Given the description of an element on the screen output the (x, y) to click on. 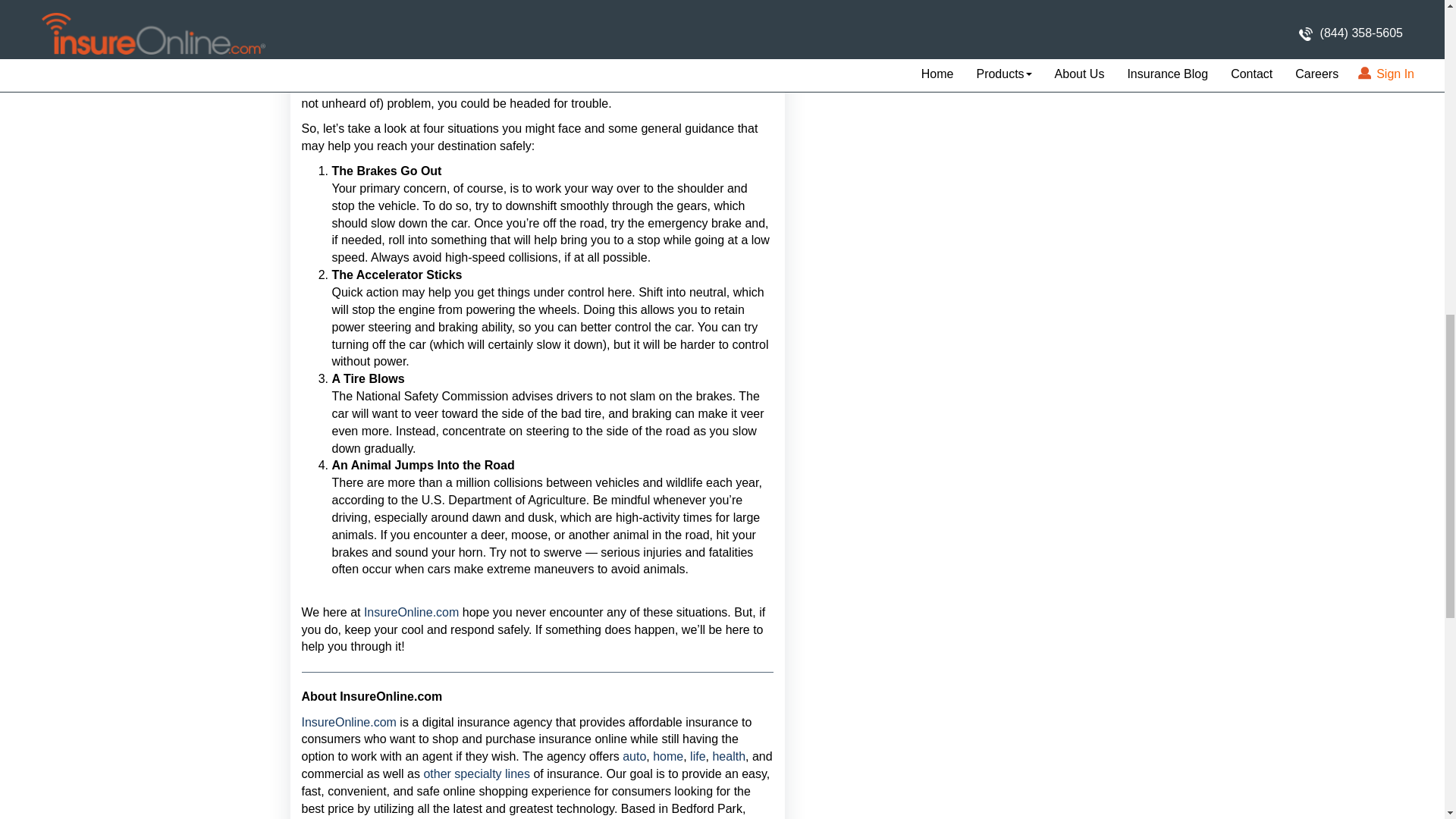
other specialty lines (476, 773)
InsureOnline.com (348, 721)
auto (634, 756)
InsureOnline.com (408, 612)
life (697, 756)
home (667, 756)
health (728, 756)
